Given the description of an element on the screen output the (x, y) to click on. 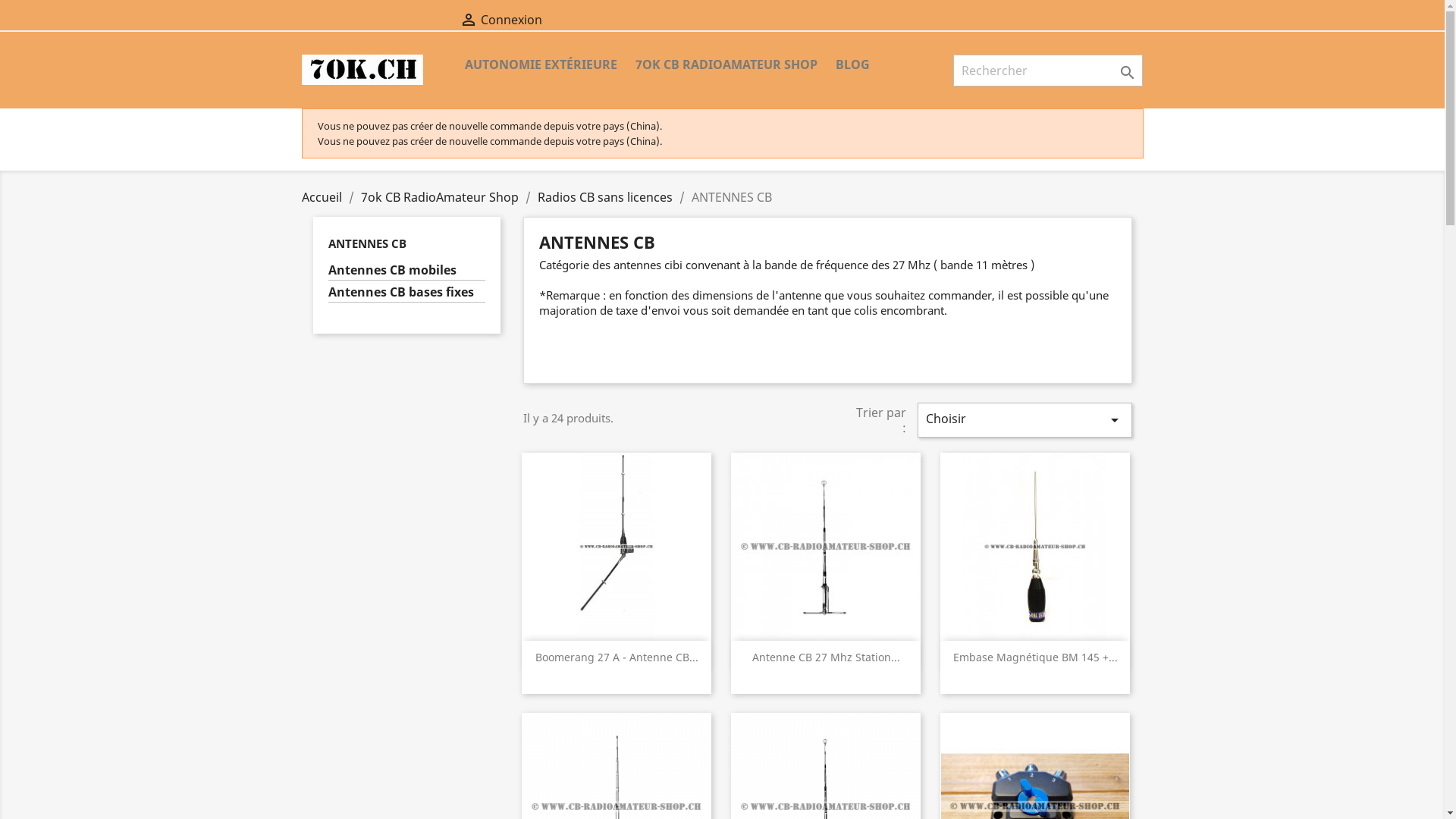
Radios CB sans licences Element type: text (603, 196)
Antenne CB 27 Mhz Station... Element type: text (826, 656)
7OK CB RADIOAMATEUR SHOP Element type: text (726, 65)
Accueil Element type: text (321, 196)
Antennes CB mobiles Element type: text (406, 271)
BLOG Element type: text (852, 65)
Antennes CB bases fixes Element type: text (406, 293)
ANTENNES CB Element type: text (366, 243)
Boomerang 27 A - Antenne CB... Element type: text (616, 656)
7ok CB RadioAmateur Shop Element type: text (439, 196)
